Given the description of an element on the screen output the (x, y) to click on. 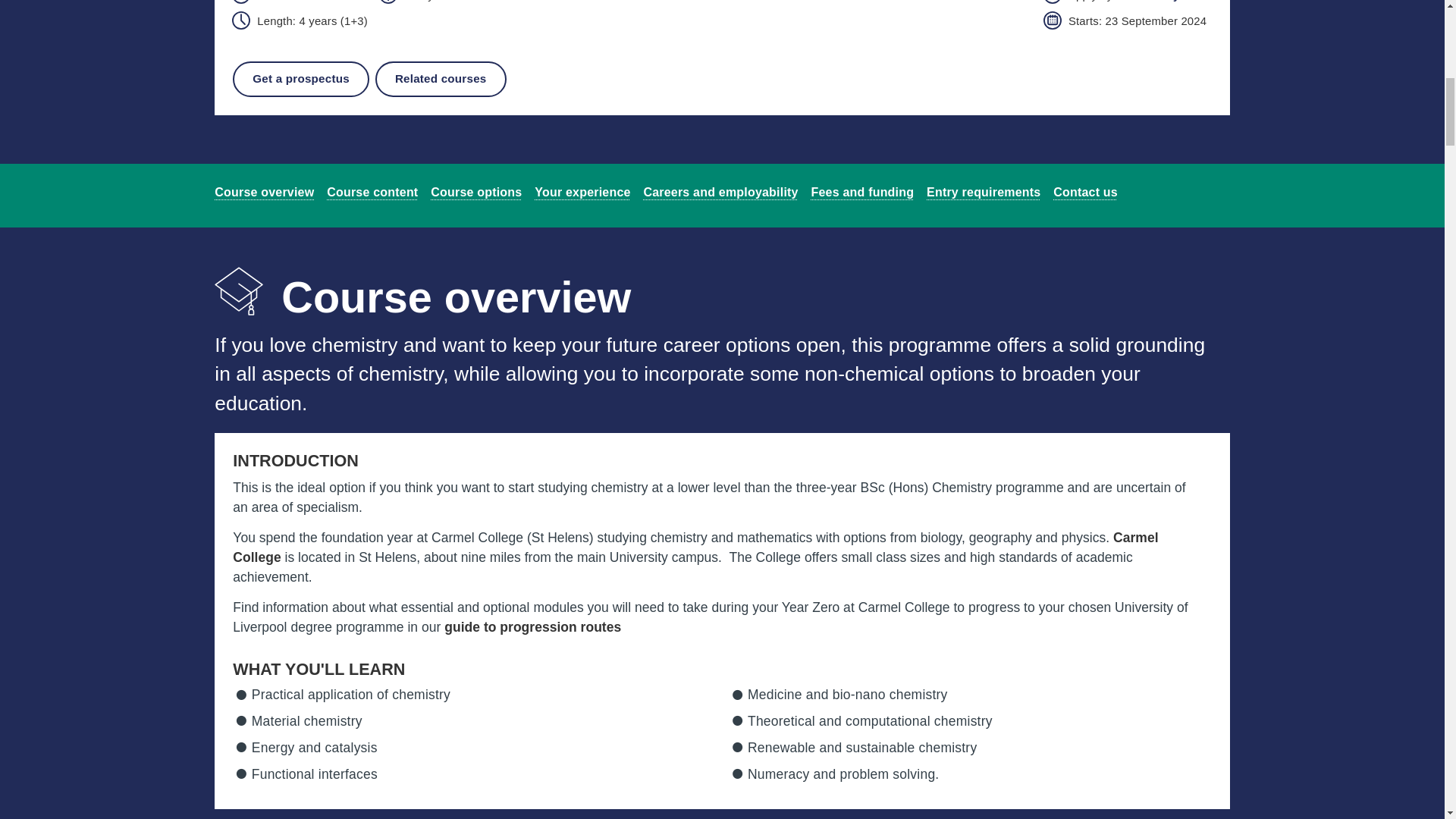
Entry requirements (1085, 192)
Course options (475, 192)
Fees and funding (862, 192)
Course overview (264, 192)
Your experience (582, 192)
Careers and employability (720, 192)
Entry requirements (983, 192)
Course content (371, 192)
